Given the description of an element on the screen output the (x, y) to click on. 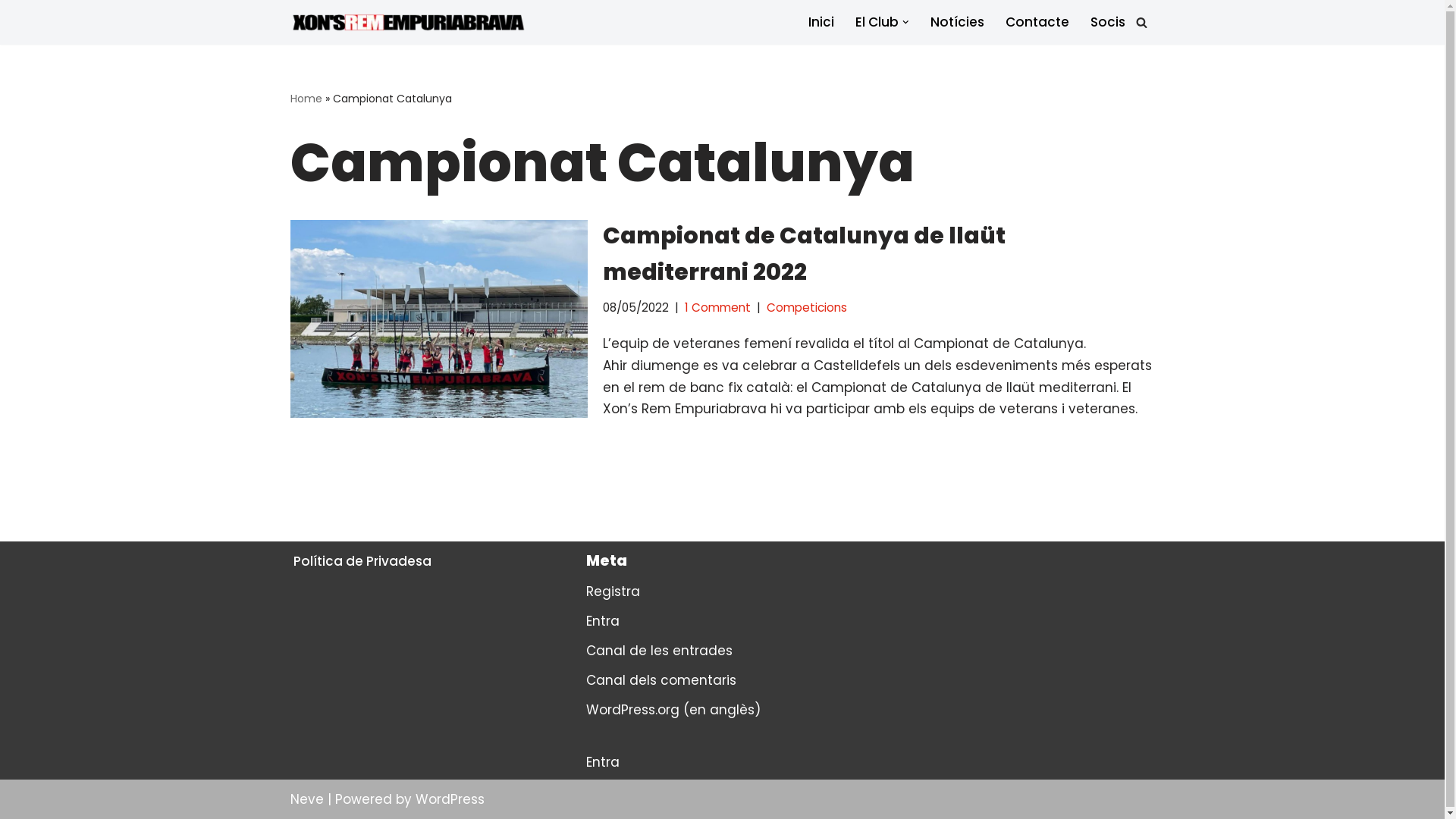
Neve Element type: text (306, 799)
Canal dels comentaris Element type: text (660, 680)
Skip to content Element type: text (11, 31)
Home Element type: text (305, 98)
Socis Element type: text (1107, 21)
WordPress Element type: text (449, 799)
El Club Element type: text (876, 21)
Competicions Element type: text (805, 307)
Entra Element type: text (601, 762)
Entra Element type: text (601, 620)
Inici Element type: text (821, 21)
Registra Element type: text (612, 591)
1 Comment Element type: text (716, 307)
Canal de les entrades Element type: text (658, 650)
Contacte Element type: text (1037, 21)
